Given the description of an element on the screen output the (x, y) to click on. 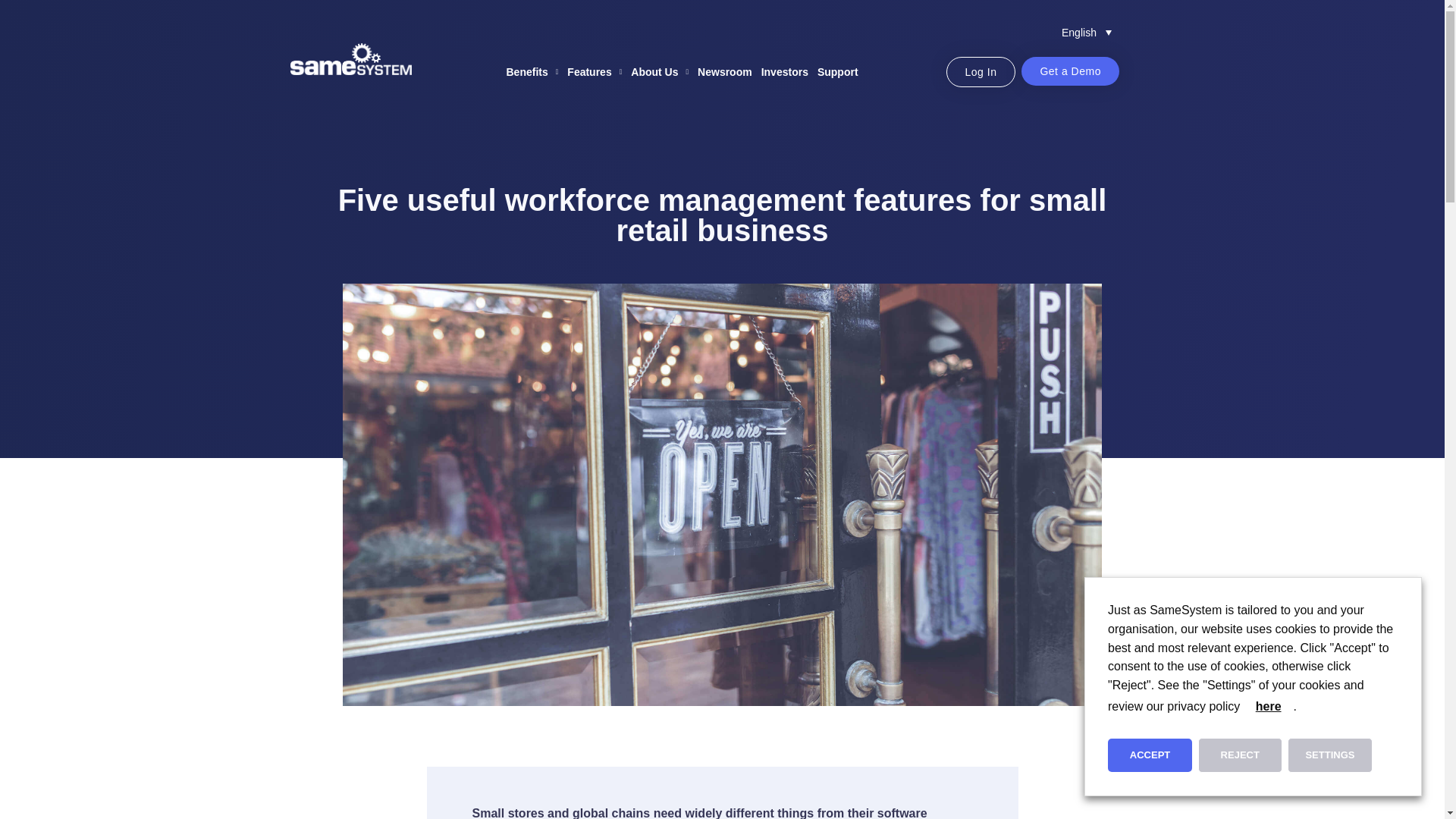
Features (594, 71)
Support (837, 71)
About Us (659, 71)
Benefits (532, 71)
Investors (784, 71)
Newsroom (724, 71)
